Given the description of an element on the screen output the (x, y) to click on. 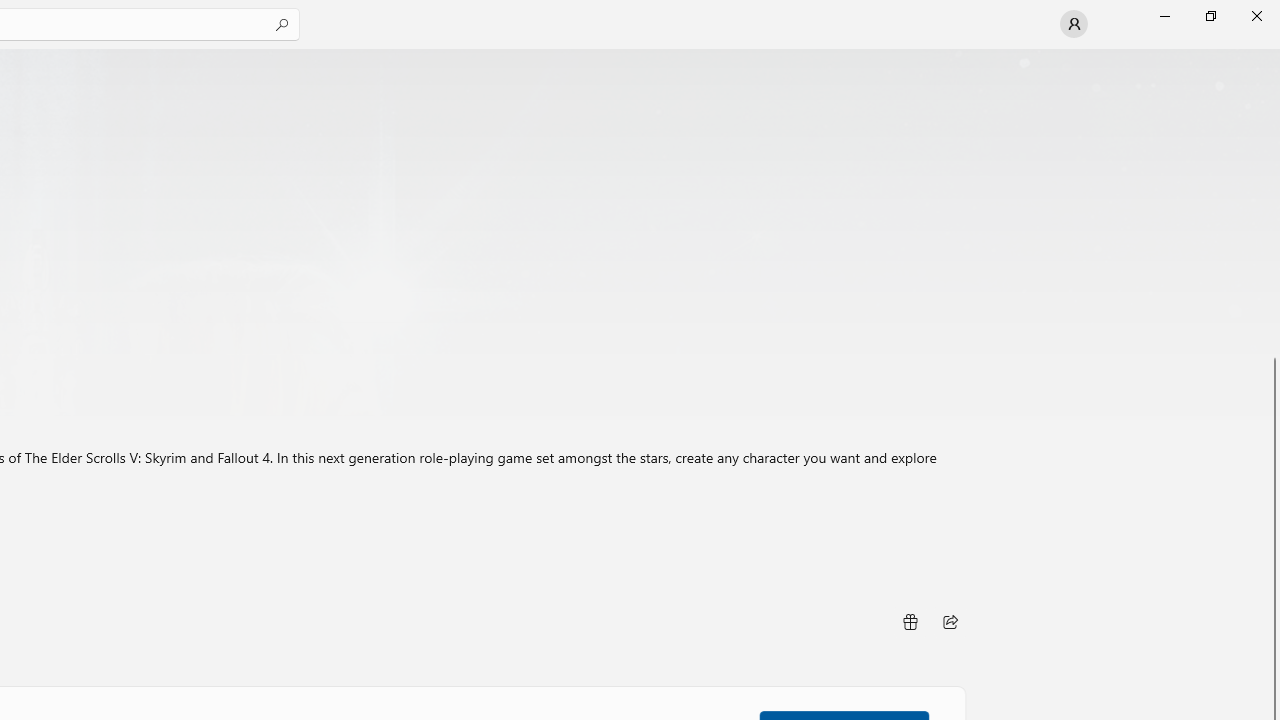
Buy as gift (909, 621)
User profile (1073, 24)
Restore Microsoft Store (1210, 15)
Close Microsoft Store (1256, 15)
Vertical Large Decrease (1272, 207)
Vertical Small Decrease (1272, 55)
Minimize Microsoft Store (1164, 15)
Share (950, 621)
